Given the description of an element on the screen output the (x, y) to click on. 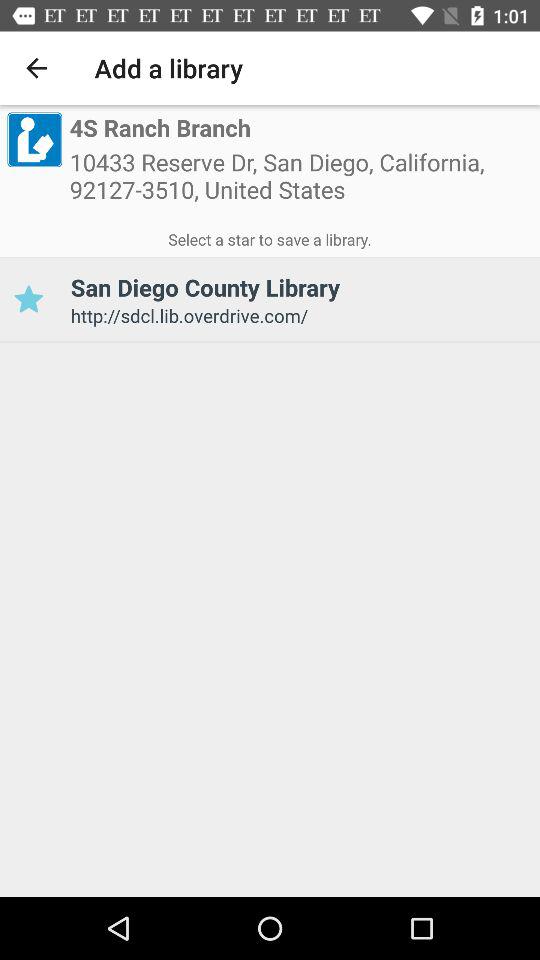
open icon next to san diego county item (28, 299)
